Given the description of an element on the screen output the (x, y) to click on. 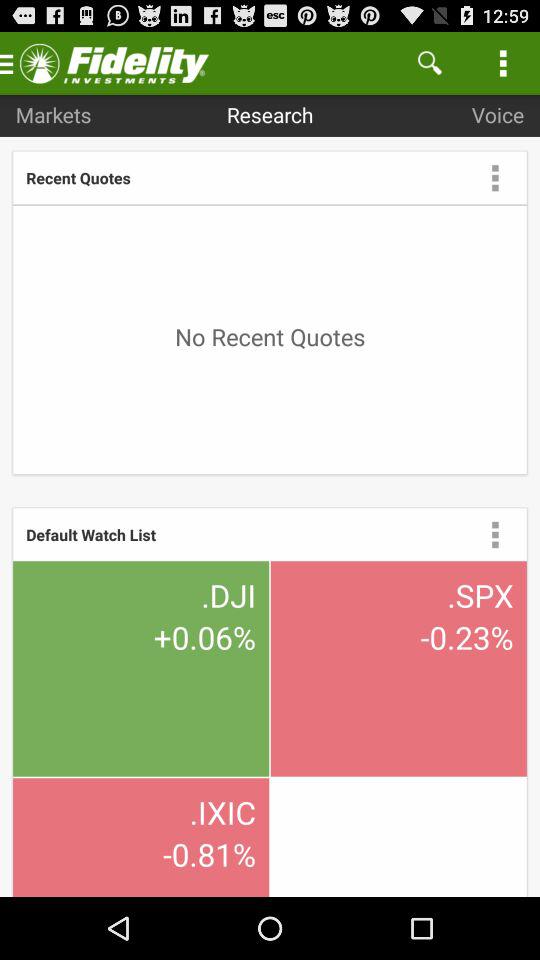
jump to voice (497, 114)
